Given the description of an element on the screen output the (x, y) to click on. 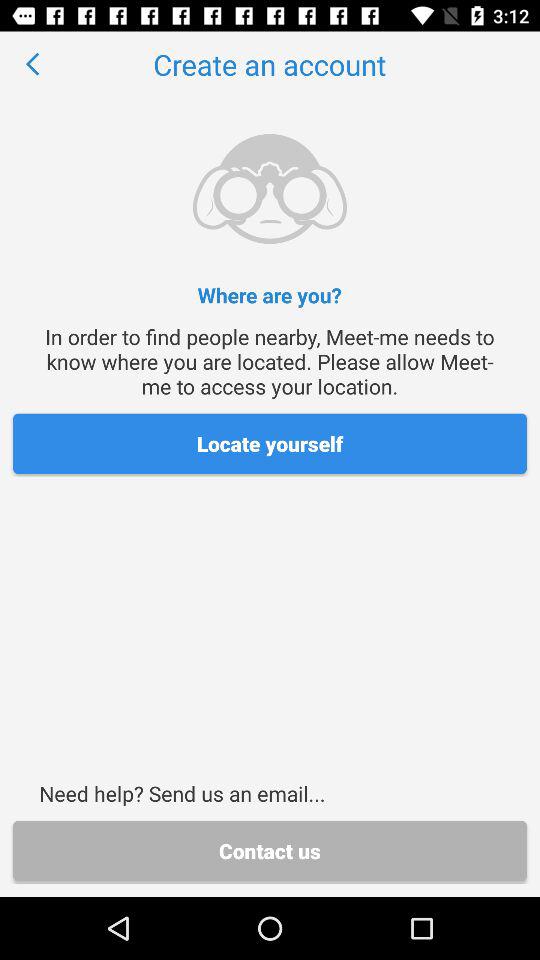
scroll until the locate yourself item (269, 443)
